Given the description of an element on the screen output the (x, y) to click on. 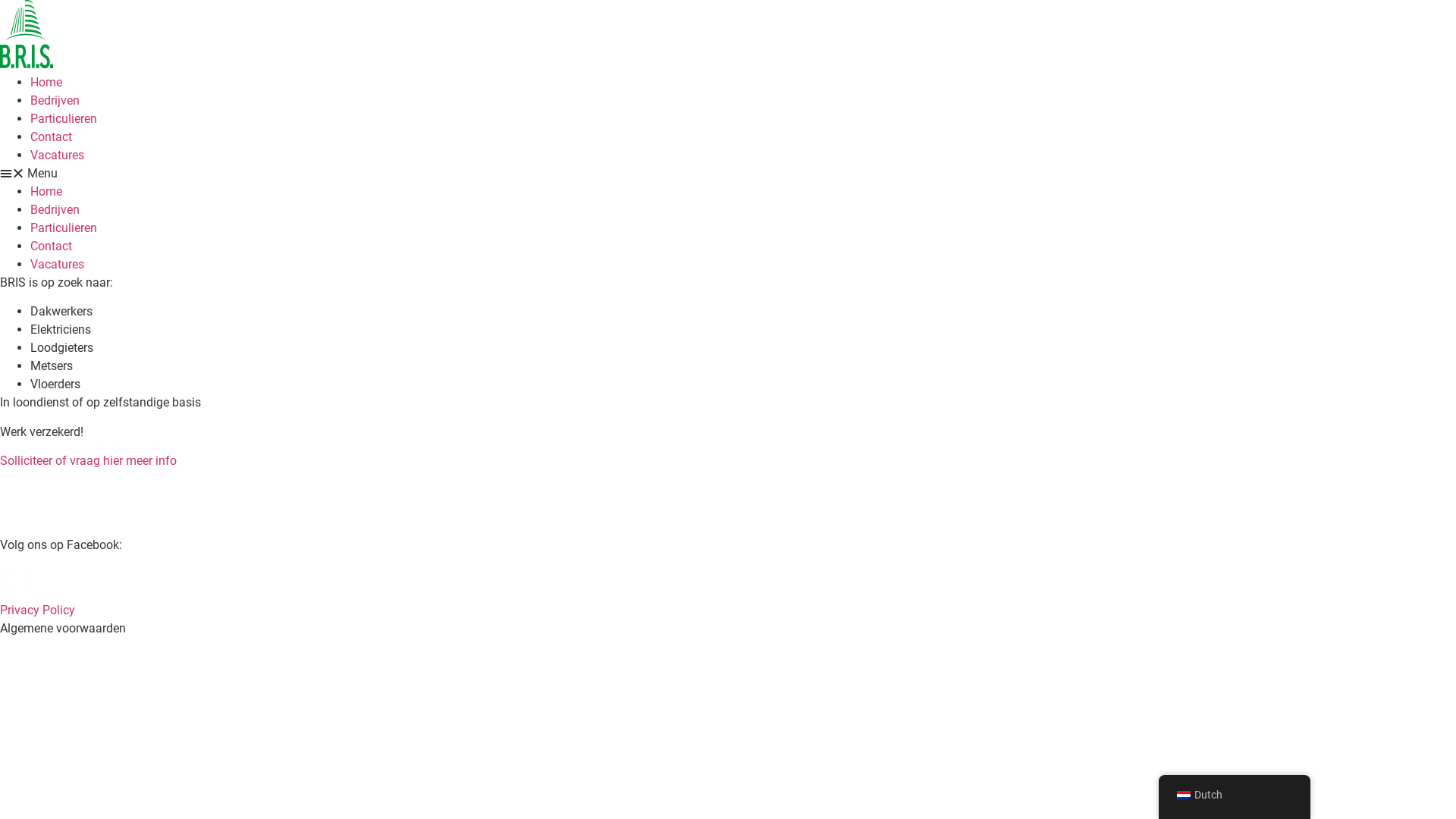
Particulieren Element type: text (63, 227)
Algemene voorwaarden Element type: text (62, 628)
cropped-logobrisweb.png Element type: hover (26, 34)
web-buildby Element type: hover (56, 646)
Vacatures Element type: text (57, 154)
Privacy Policy Element type: text (37, 609)
Contact Element type: text (51, 136)
Home Element type: text (46, 191)
Solliciteer of vraag hier meer info Element type: text (88, 460)
Bedrijven Element type: text (54, 209)
Contact Element type: text (51, 245)
Dutch Element type: hover (1183, 795)
facebook-app-logo-wit Element type: hover (14, 580)
Home Element type: text (46, 82)
Dutch Element type: text (1234, 795)
bris-logo-wit Element type: hover (23, 500)
Vacatures Element type: text (57, 264)
Bedrijven Element type: text (54, 100)
Particulieren Element type: text (63, 118)
